Given the description of an element on the screen output the (x, y) to click on. 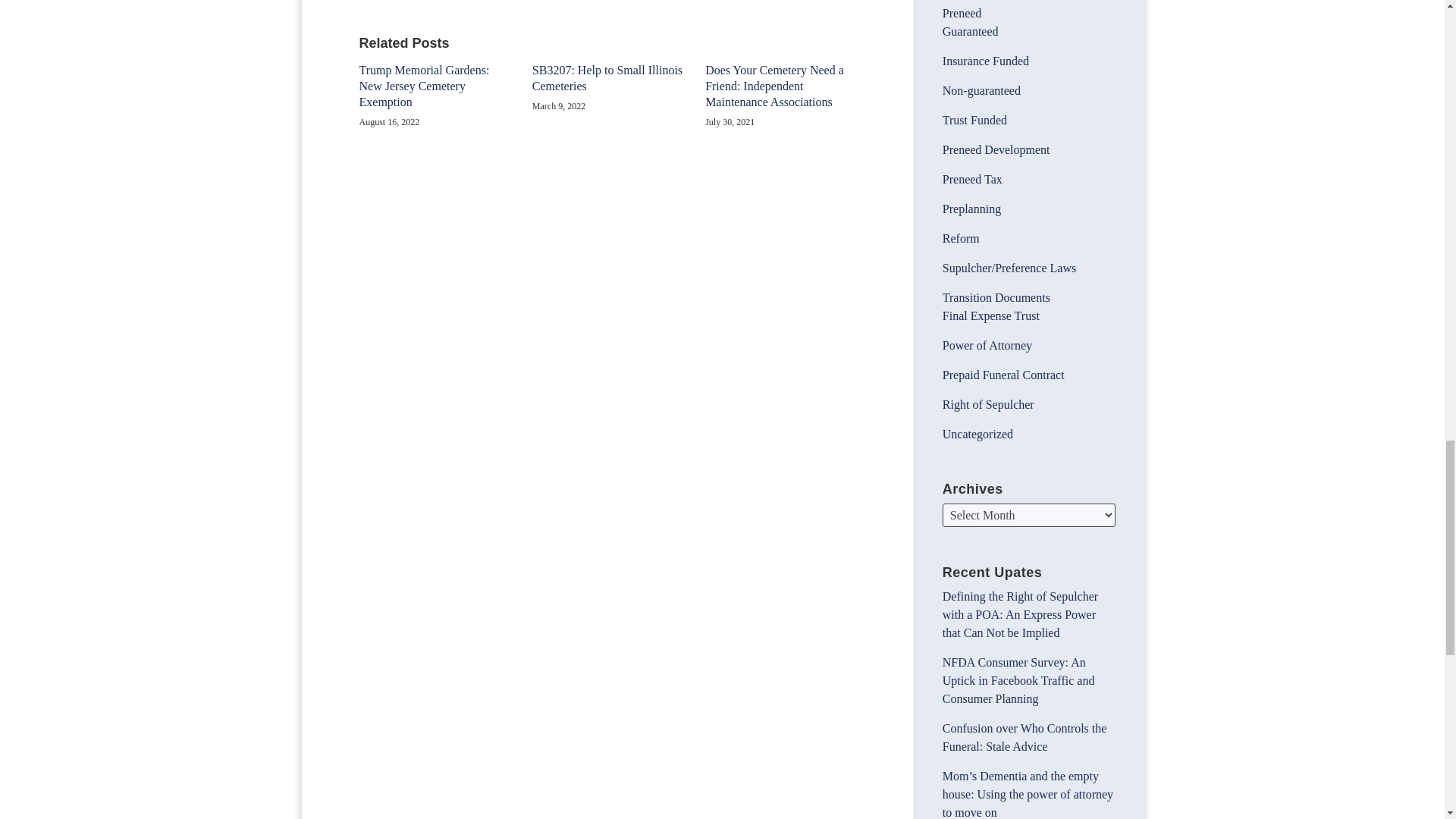
Trump Memorial Gardens: New Jersey Cemetery Exemption (434, 86)
SB3207: Help to Small Illinois Cemeteries (607, 79)
